Given the description of an element on the screen output the (x, y) to click on. 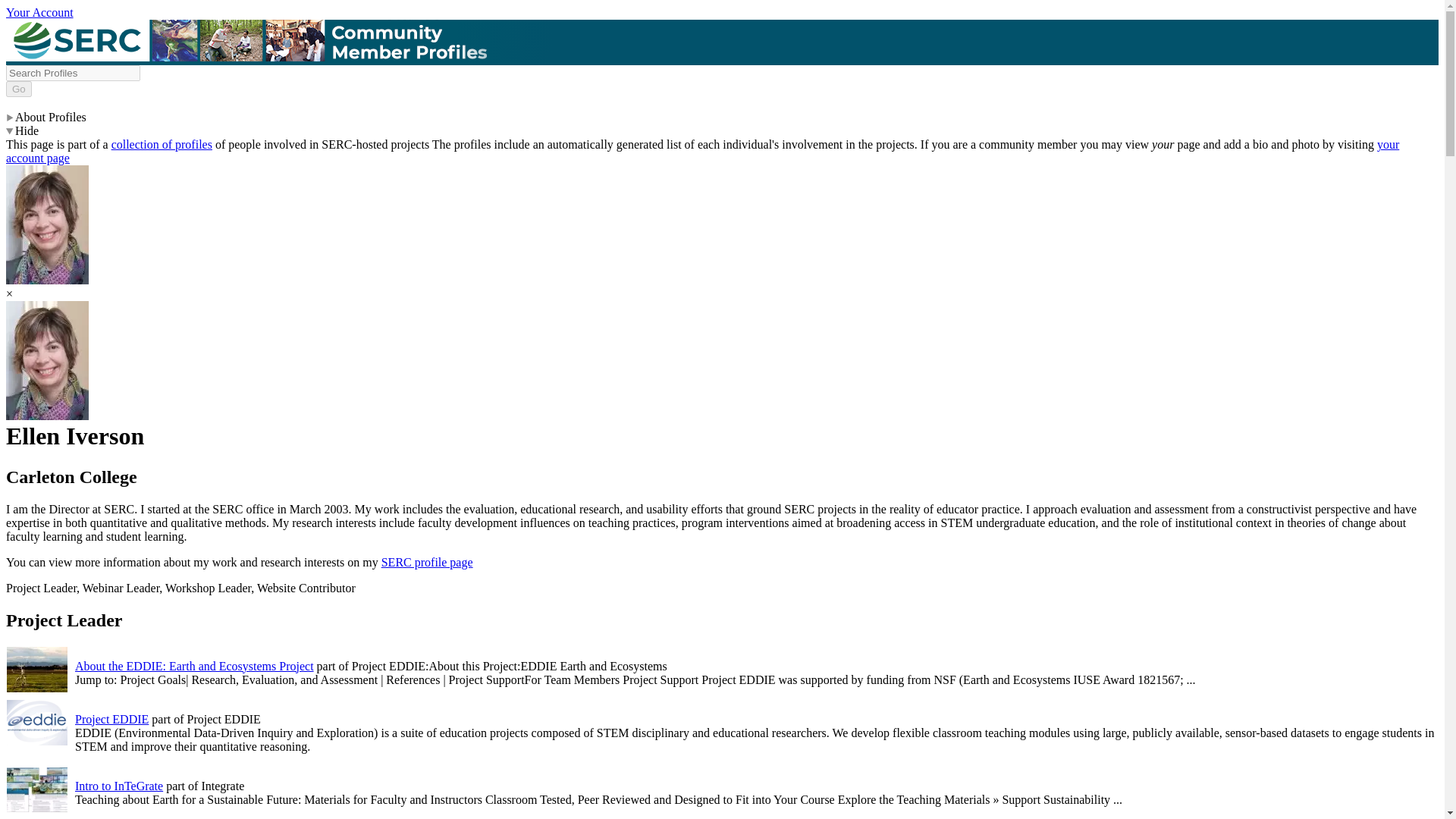
Go (18, 89)
your account page (702, 151)
About Profiles (45, 116)
Project EDDIE (111, 718)
About the EDDIE: Earth and Ecosystems Project (194, 666)
Hide (22, 130)
Your Account (39, 11)
collection of profiles (162, 144)
Intro to InTeGrate (119, 785)
SERC profile page (427, 562)
